Given the description of an element on the screen output the (x, y) to click on. 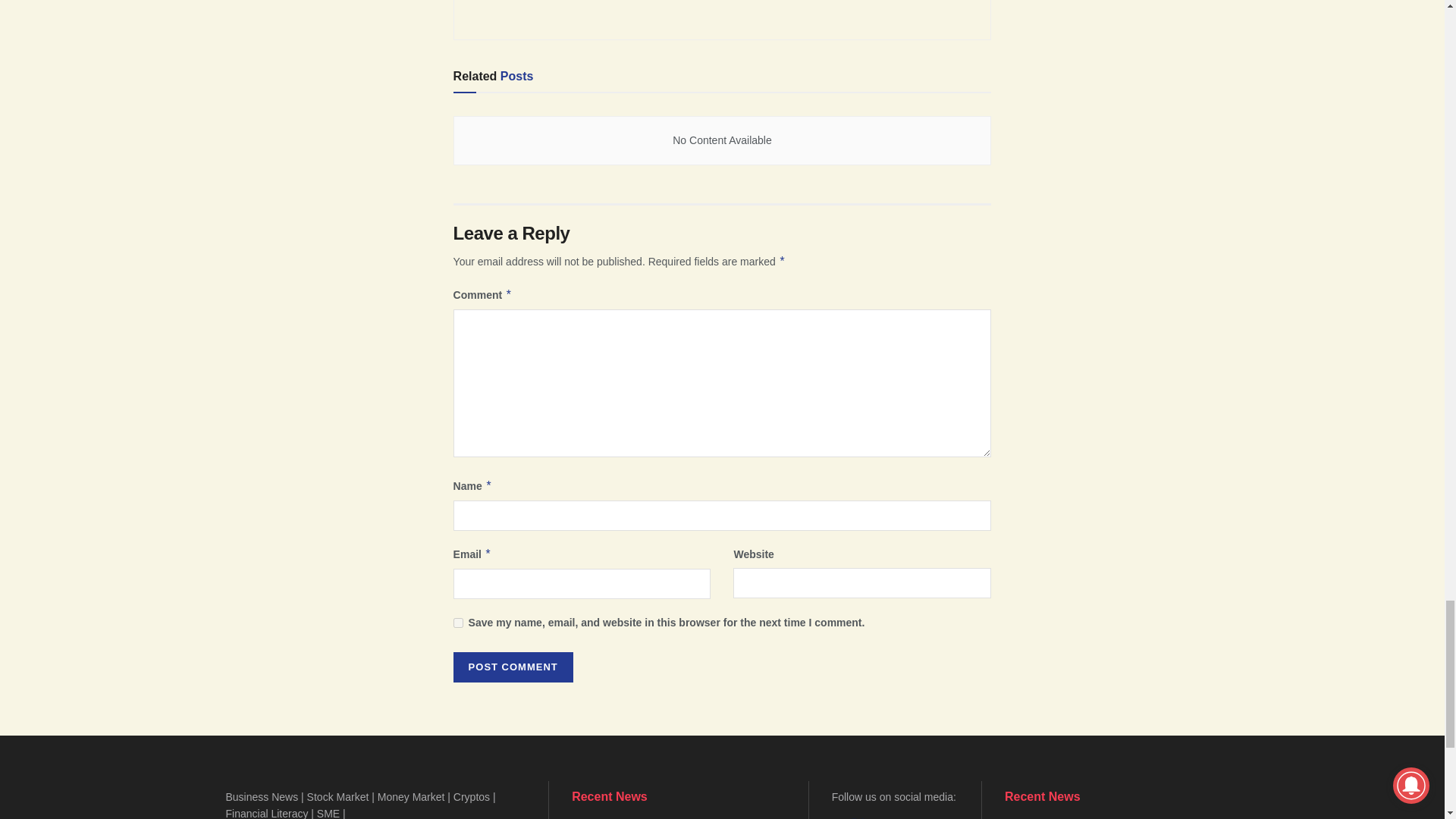
yes (457, 623)
Post Comment (512, 666)
